Given the description of an element on the screen output the (x, y) to click on. 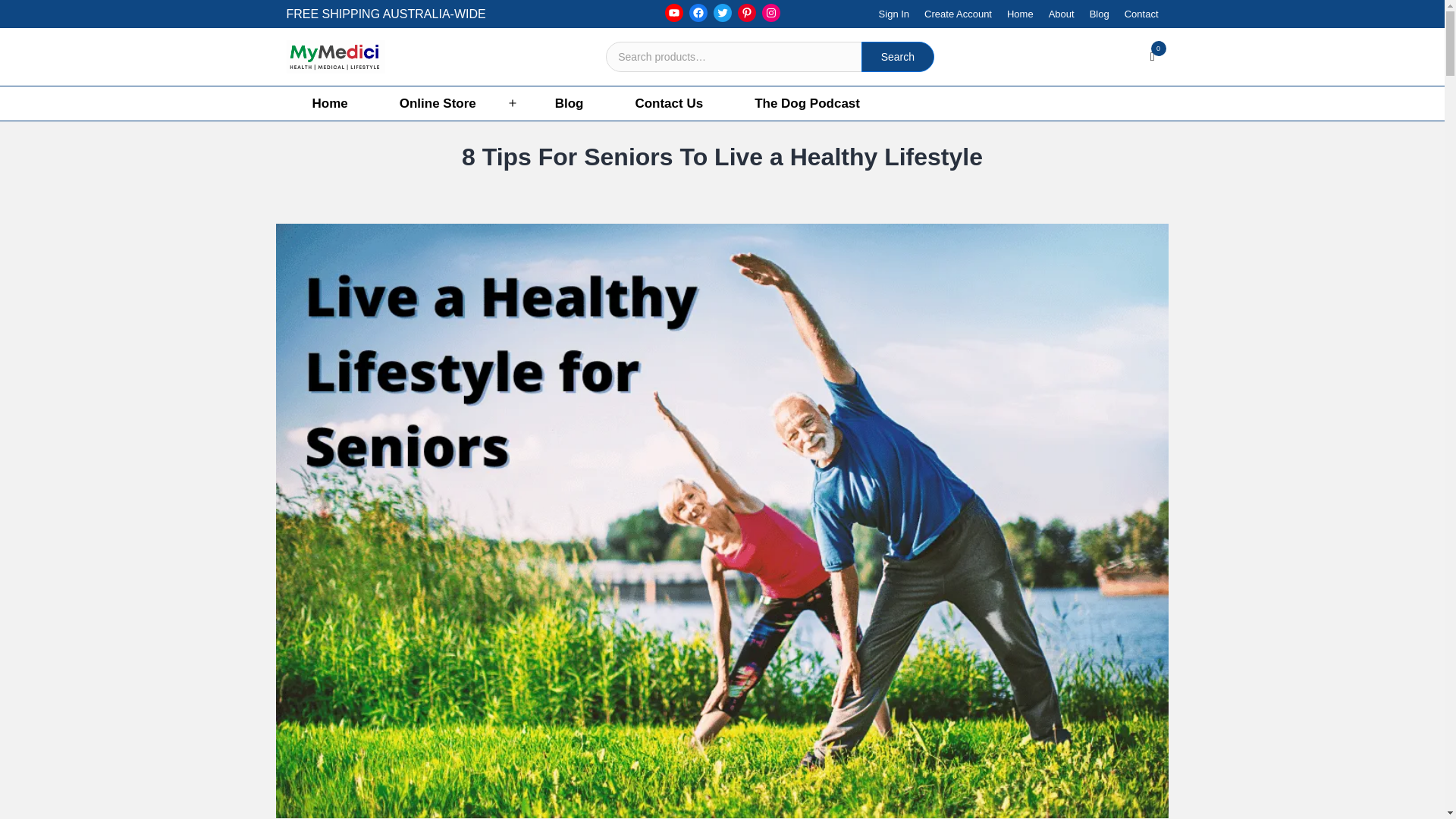
Blog (569, 103)
Search (897, 56)
Home (1019, 13)
About (1061, 13)
Contact (1137, 13)
Facebook (697, 13)
Instagram (769, 13)
Contact Us (668, 103)
Blog (1098, 13)
Online Store (438, 103)
